Given the description of an element on the screen output the (x, y) to click on. 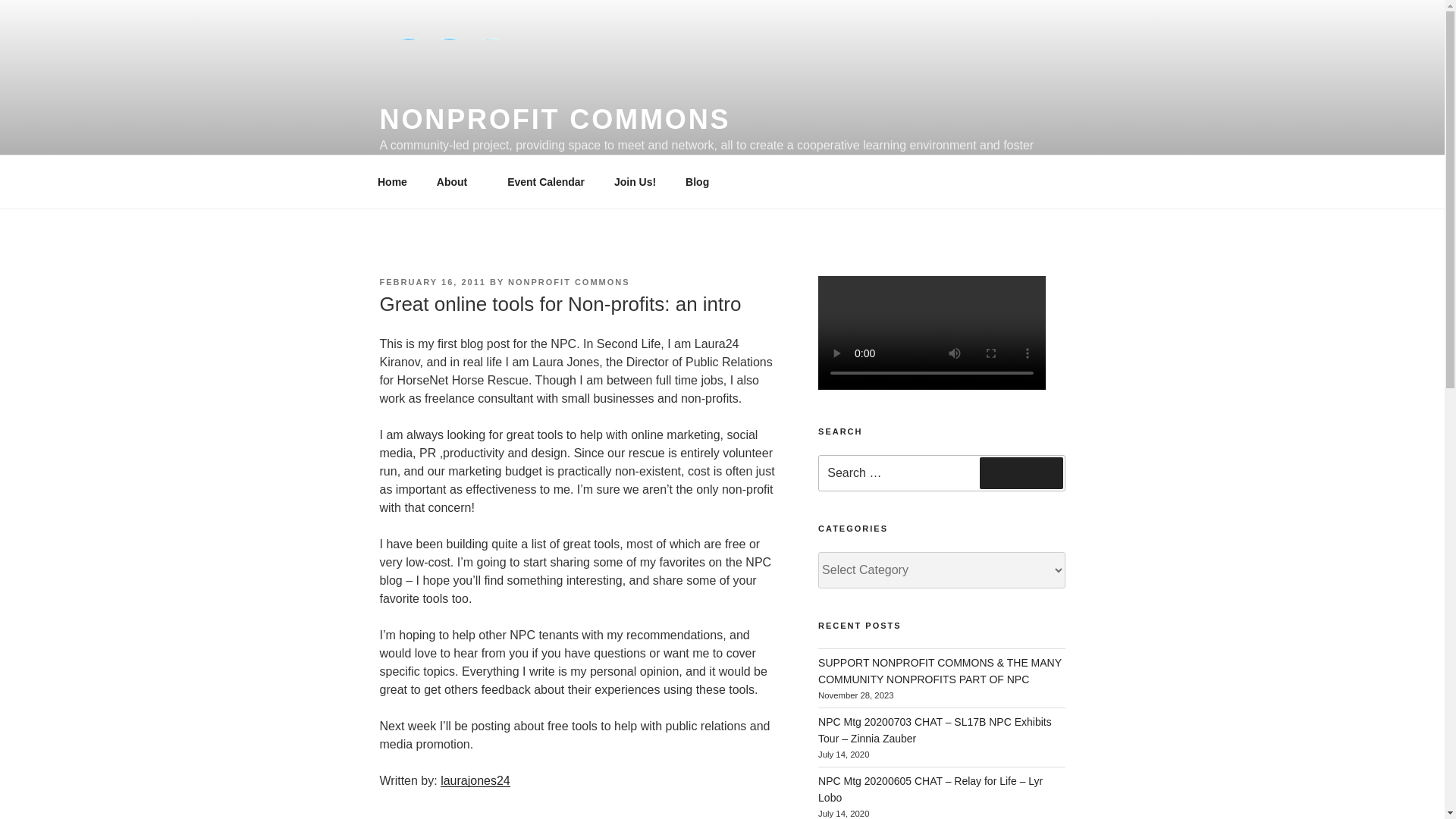
FEBRUARY 16, 2011 (431, 281)
Search (1020, 472)
NONPROFIT COMMONS (554, 119)
Blog (697, 181)
NONPROFIT COMMONS (569, 281)
About (456, 181)
laurajones24 (476, 780)
Event Calendar (546, 181)
Home (392, 181)
Join Us! (633, 181)
